Given the description of an element on the screen output the (x, y) to click on. 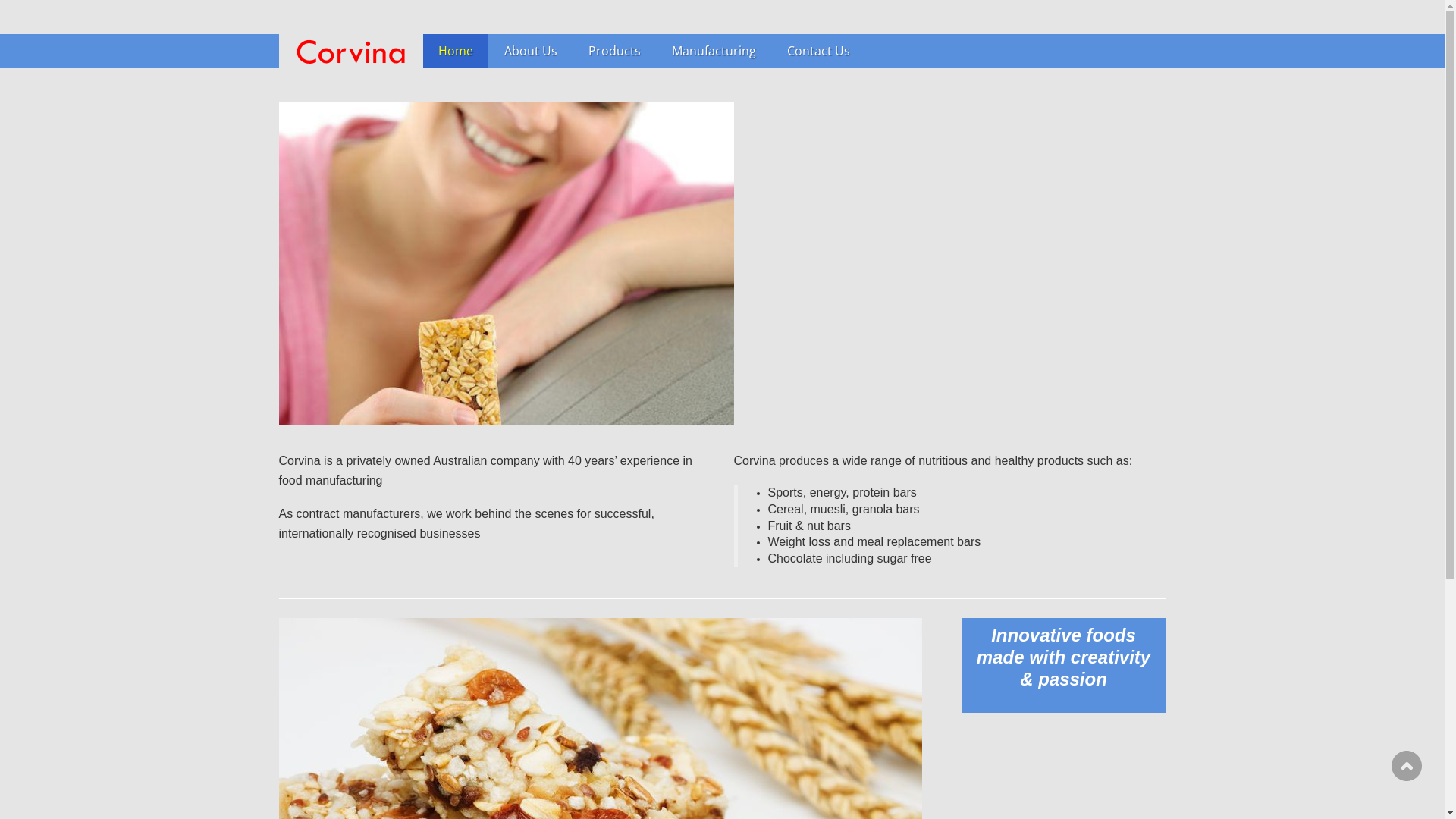
About Us Element type: text (529, 51)
Scroll Element type: text (1406, 765)
Home Element type: text (455, 51)
Products Element type: text (614, 51)
Weight Loss Bars Element type: hover (506, 263)
Contact Us Element type: text (818, 51)
Manufacturing Element type: text (713, 51)
